Given the description of an element on the screen output the (x, y) to click on. 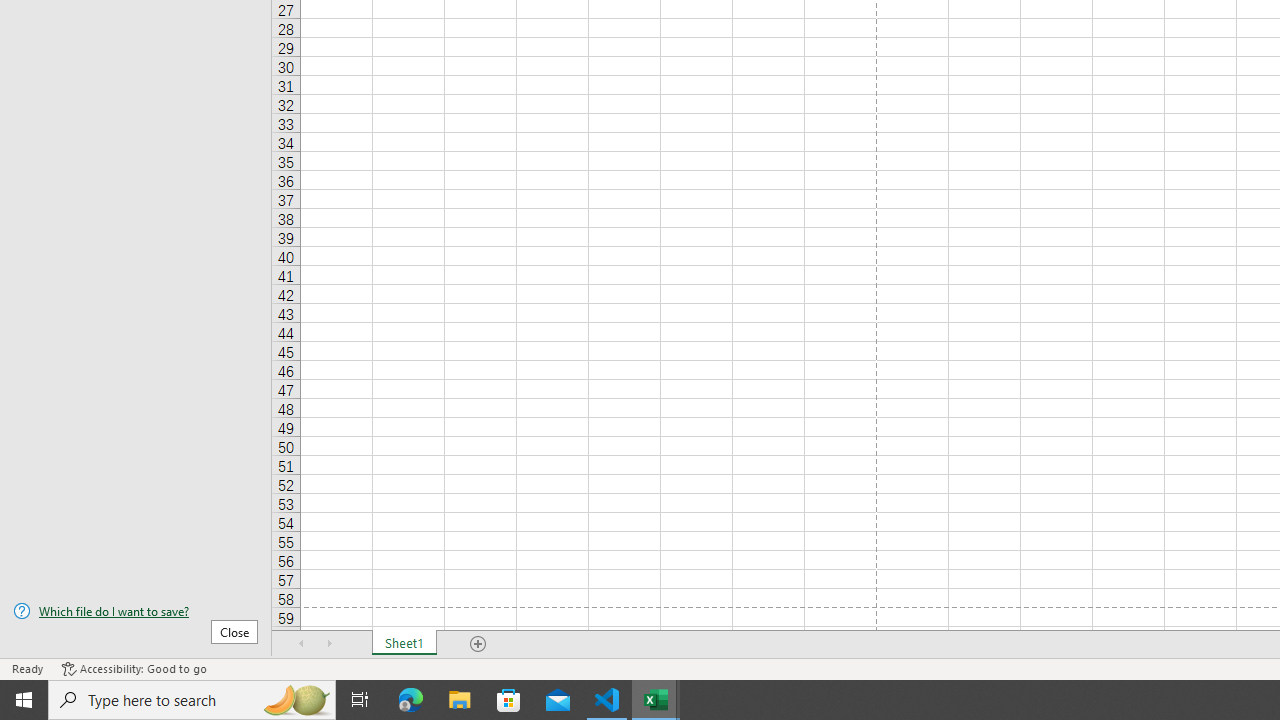
Which file do I want to save? (136, 611)
Sheet1 (404, 644)
Add Sheet (478, 644)
Scroll Left (302, 644)
Scroll Right (330, 644)
Close (234, 631)
Accessibility Checker Accessibility: Good to go (134, 668)
